Given the description of an element on the screen output the (x, y) to click on. 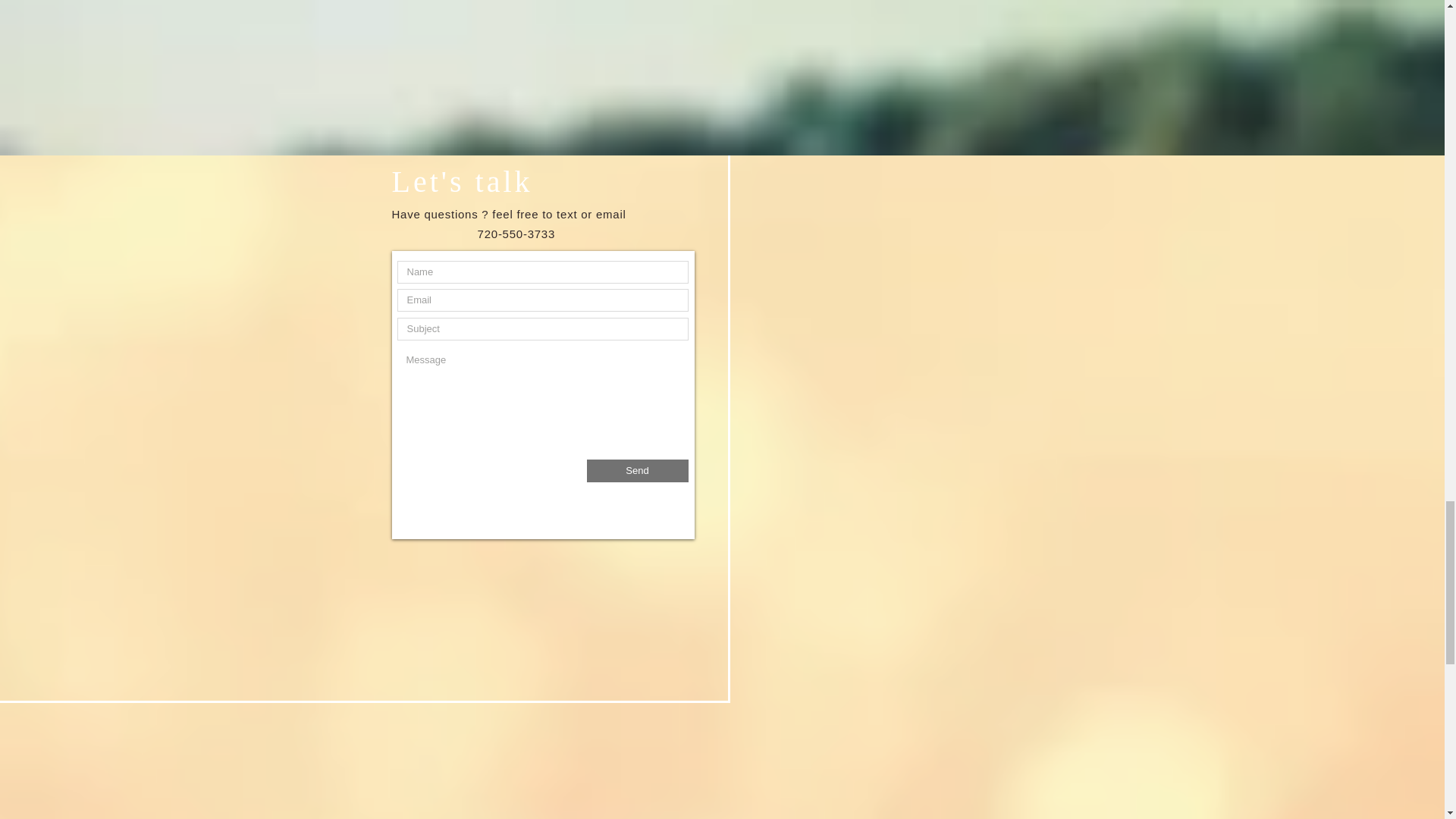
Send (637, 470)
